Given the description of an element on the screen output the (x, y) to click on. 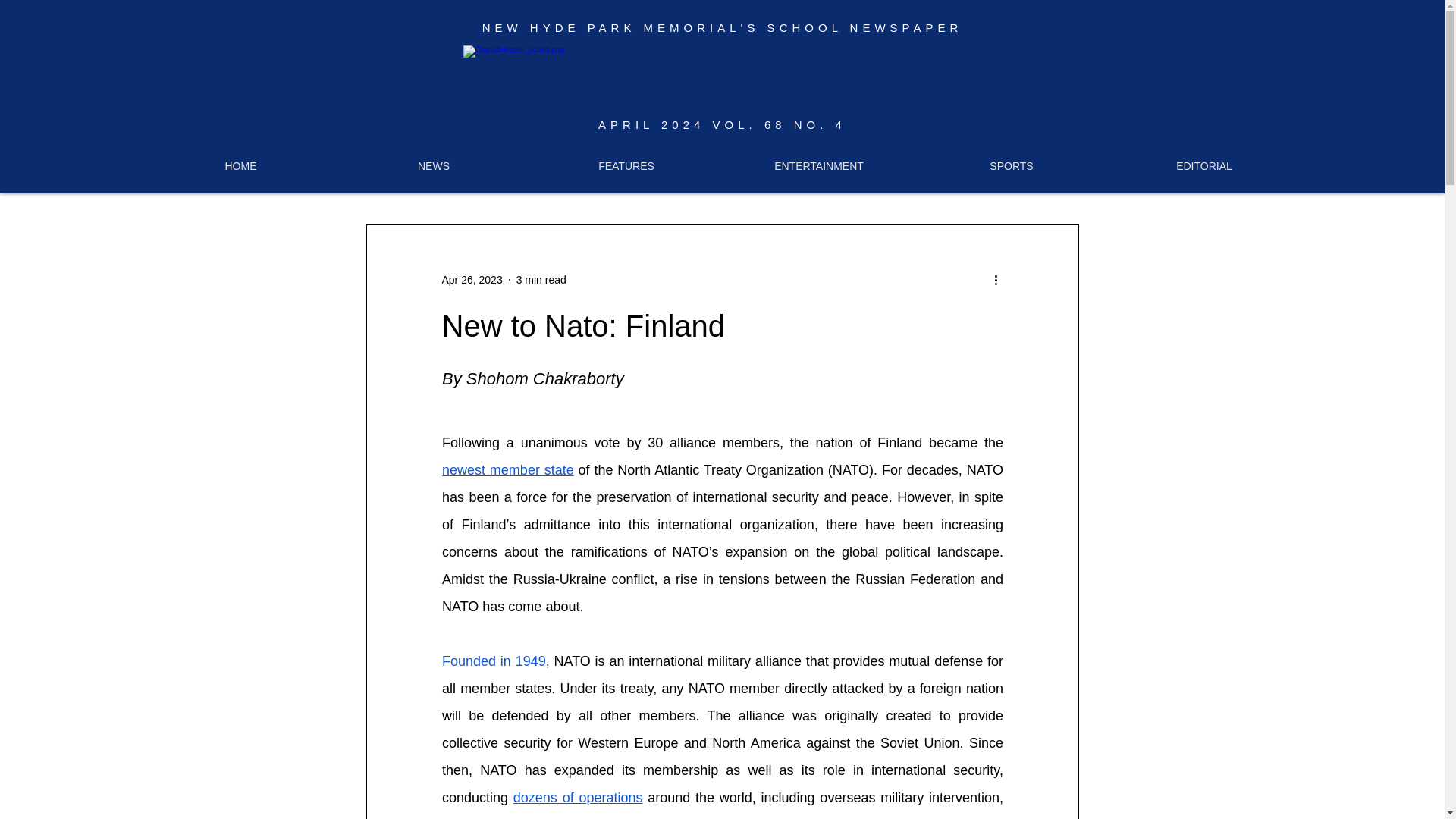
HOME (240, 165)
ENTERTAINMENT (818, 165)
APRIL 2024 VOL. 68 NO. 4 (721, 124)
NEW HYDE PARK MEMORIAL'S SCHOOL NEWSPAPER (721, 27)
3 min read (541, 278)
NEWS (433, 165)
dozens of operations (577, 797)
newest member state (507, 469)
FEATURES (625, 165)
Apr 26, 2023 (471, 278)
EDITORIAL (1204, 165)
Founded in 1949 (492, 661)
SPORTS (1011, 165)
